Given the description of an element on the screen output the (x, y) to click on. 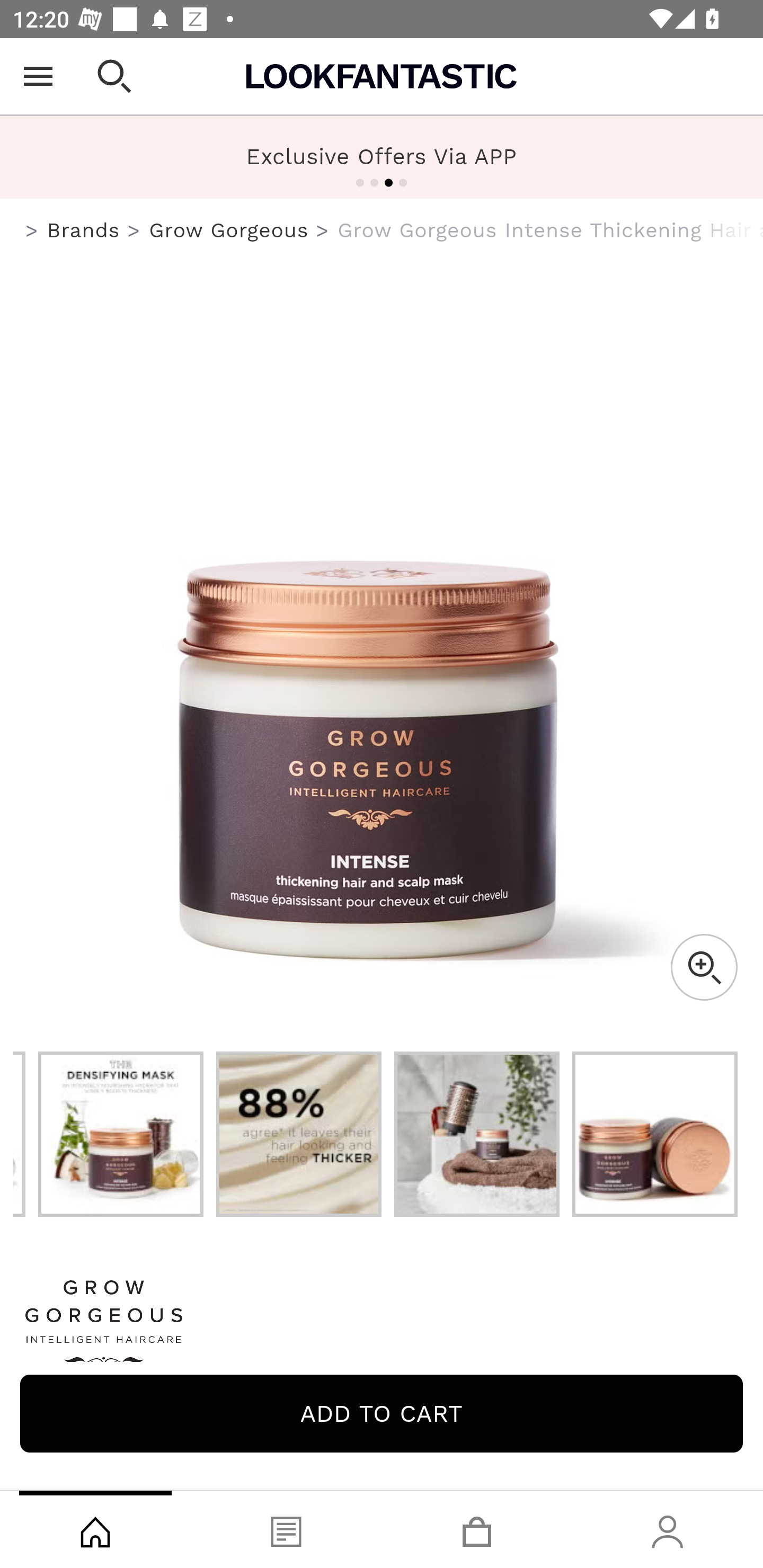
Open Menu (38, 75)
Open search (114, 75)
Lookfantastic USA (381, 75)
us.lookfantastic (32, 230)
Brands (82, 230)
Grow Gorgeous (228, 230)
Zoom (703, 966)
Grow Gorgeous (381, 1327)
Add to cart (381, 1413)
Shop, tab, 1 of 4 (95, 1529)
Blog, tab, 2 of 4 (285, 1529)
Basket, tab, 3 of 4 (476, 1529)
Account, tab, 4 of 4 (667, 1529)
